Given the description of an element on the screen output the (x, y) to click on. 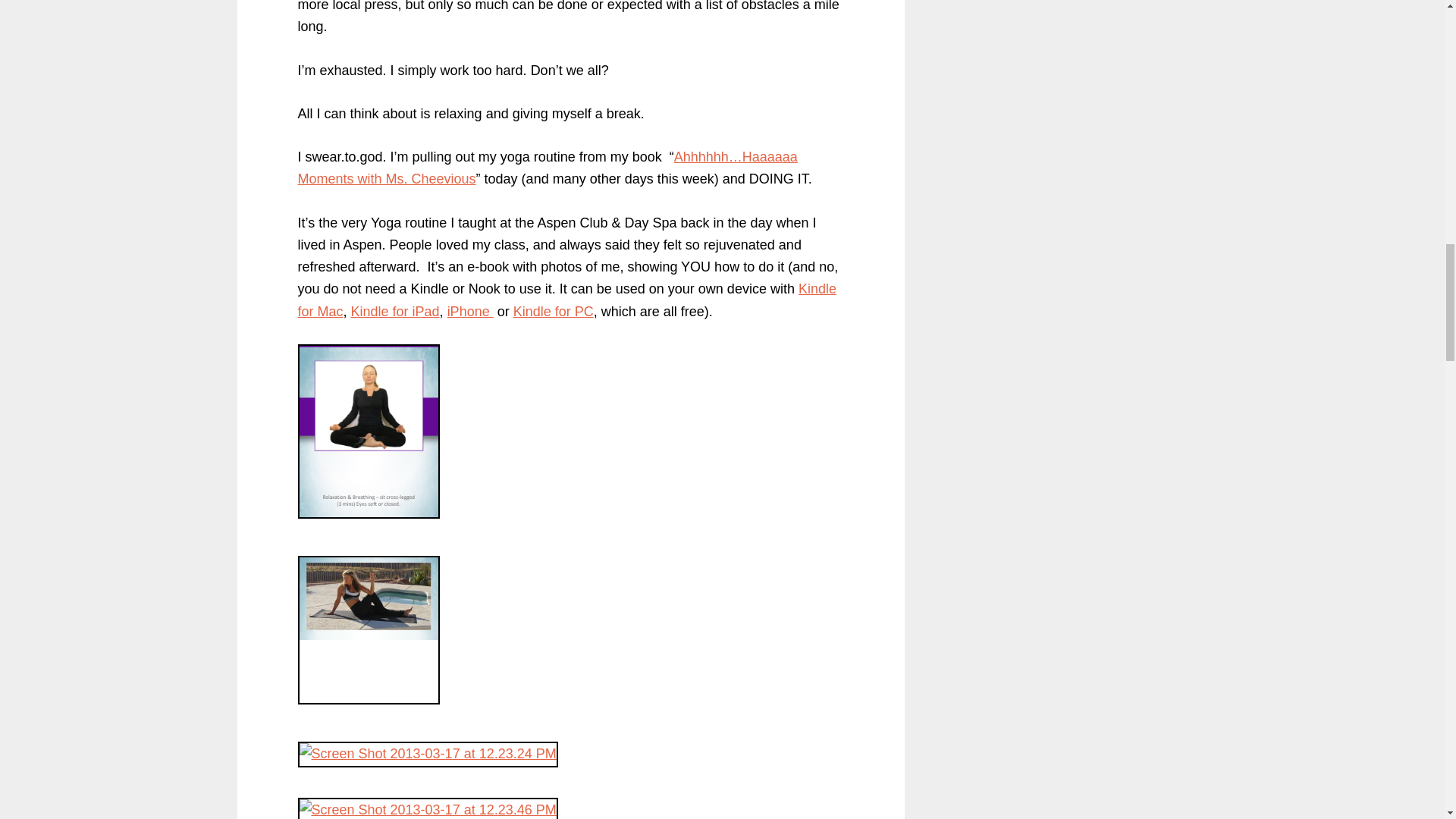
iPhone  (469, 311)
Kindle for Mac (566, 299)
Kindle for Mac (566, 299)
Kindle for iPad (394, 311)
Kindle for PC (553, 311)
Kindle for PC (553, 311)
